Given the description of an element on the screen output the (x, y) to click on. 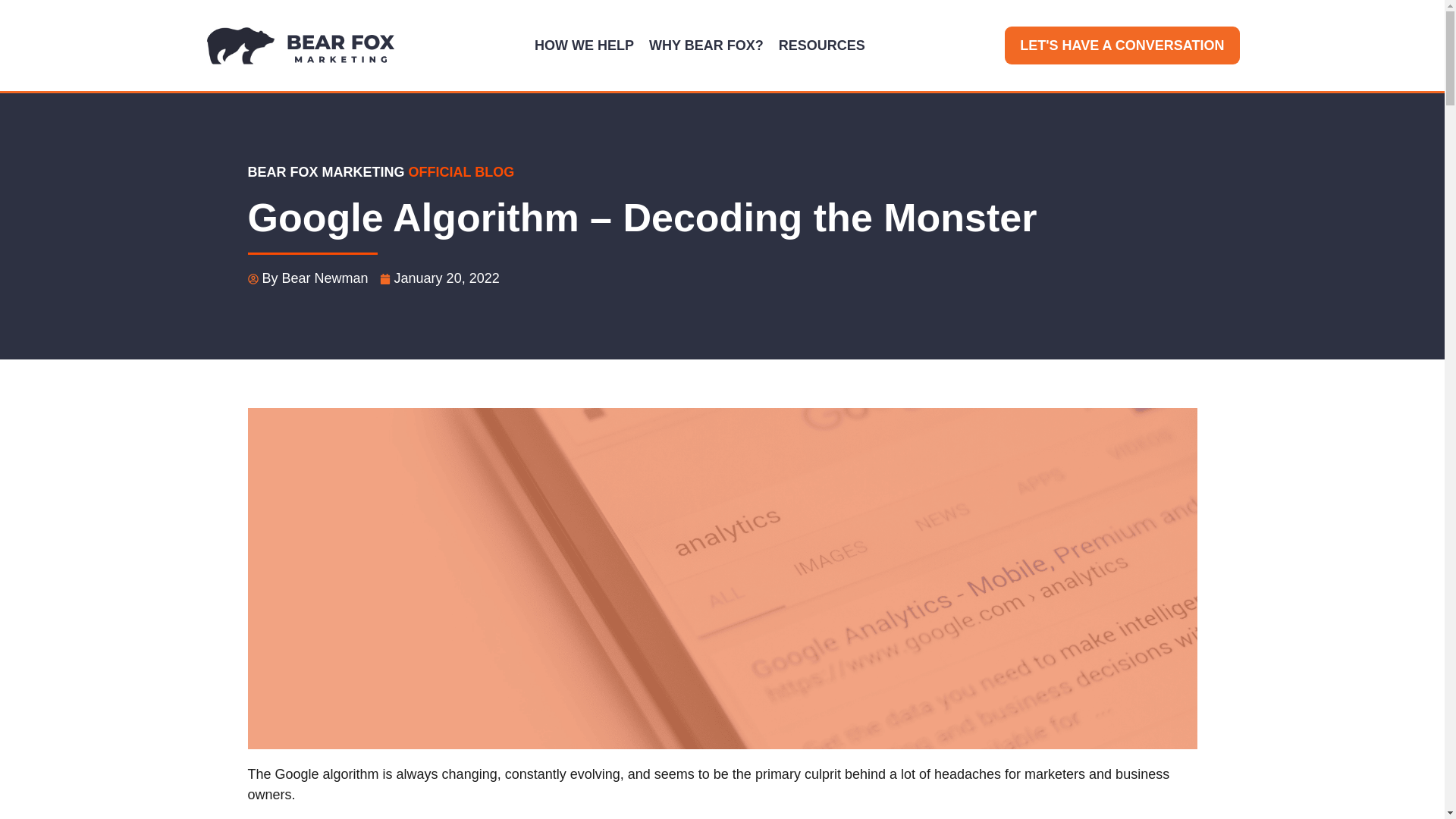
HOW WE HELP (584, 45)
RESOURCES (821, 45)
WHY BEAR FOX? (706, 45)
